Given the description of an element on the screen output the (x, y) to click on. 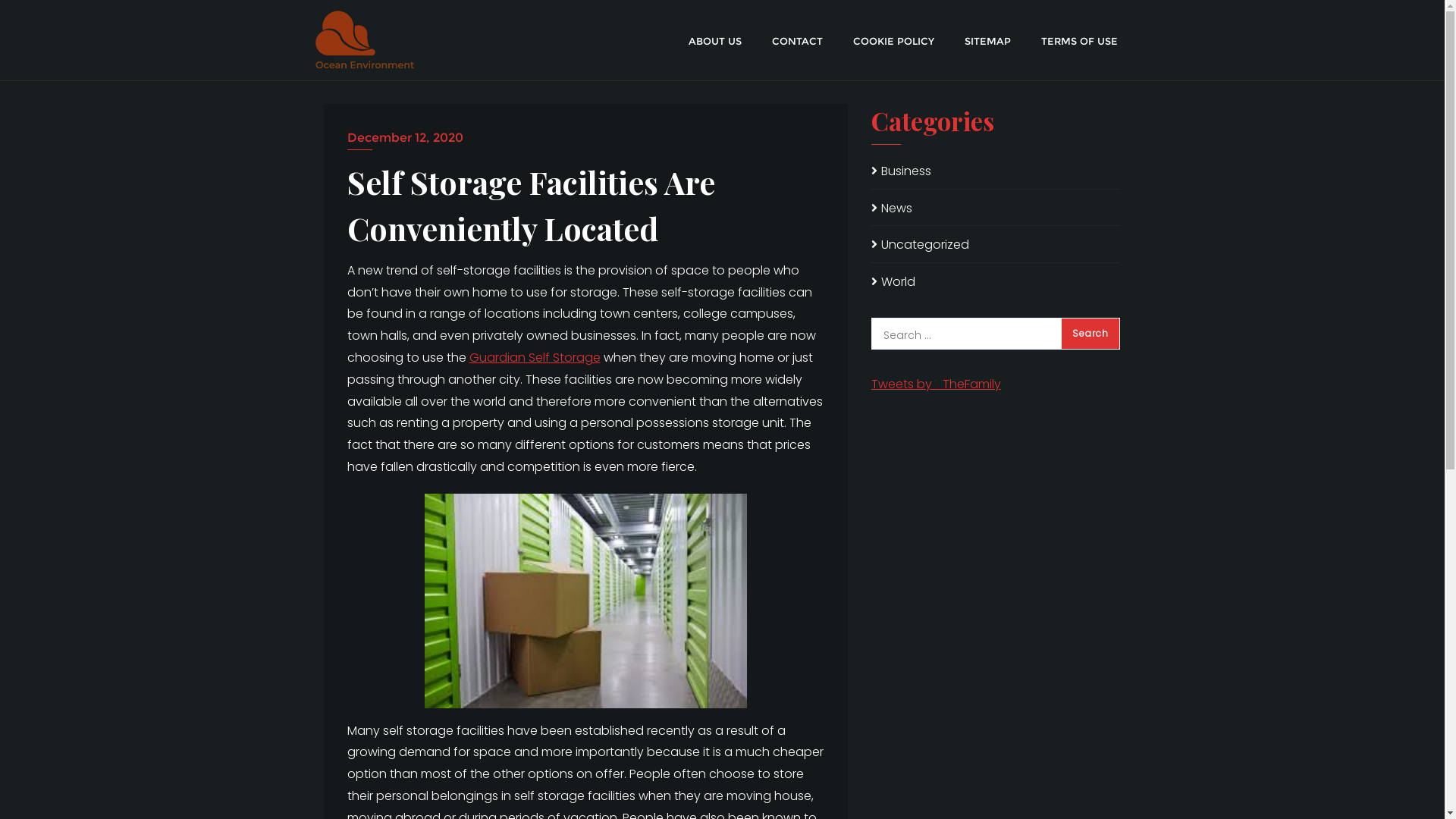
Search Element type: text (1090, 333)
Uncategorized Element type: text (920, 244)
Guardian Self Storage Element type: text (533, 357)
Tweets by _TheFamily Element type: text (936, 383)
SITEMAP Element type: text (987, 39)
TERMS OF USE Element type: text (1078, 39)
COOKIE POLICY Element type: text (892, 39)
ABOUT US Element type: text (714, 39)
December 12, 2020 Element type: text (585, 138)
World Element type: text (893, 281)
Business Element type: text (901, 171)
CONTACT Element type: text (796, 39)
News Element type: text (891, 208)
